Given the description of an element on the screen output the (x, y) to click on. 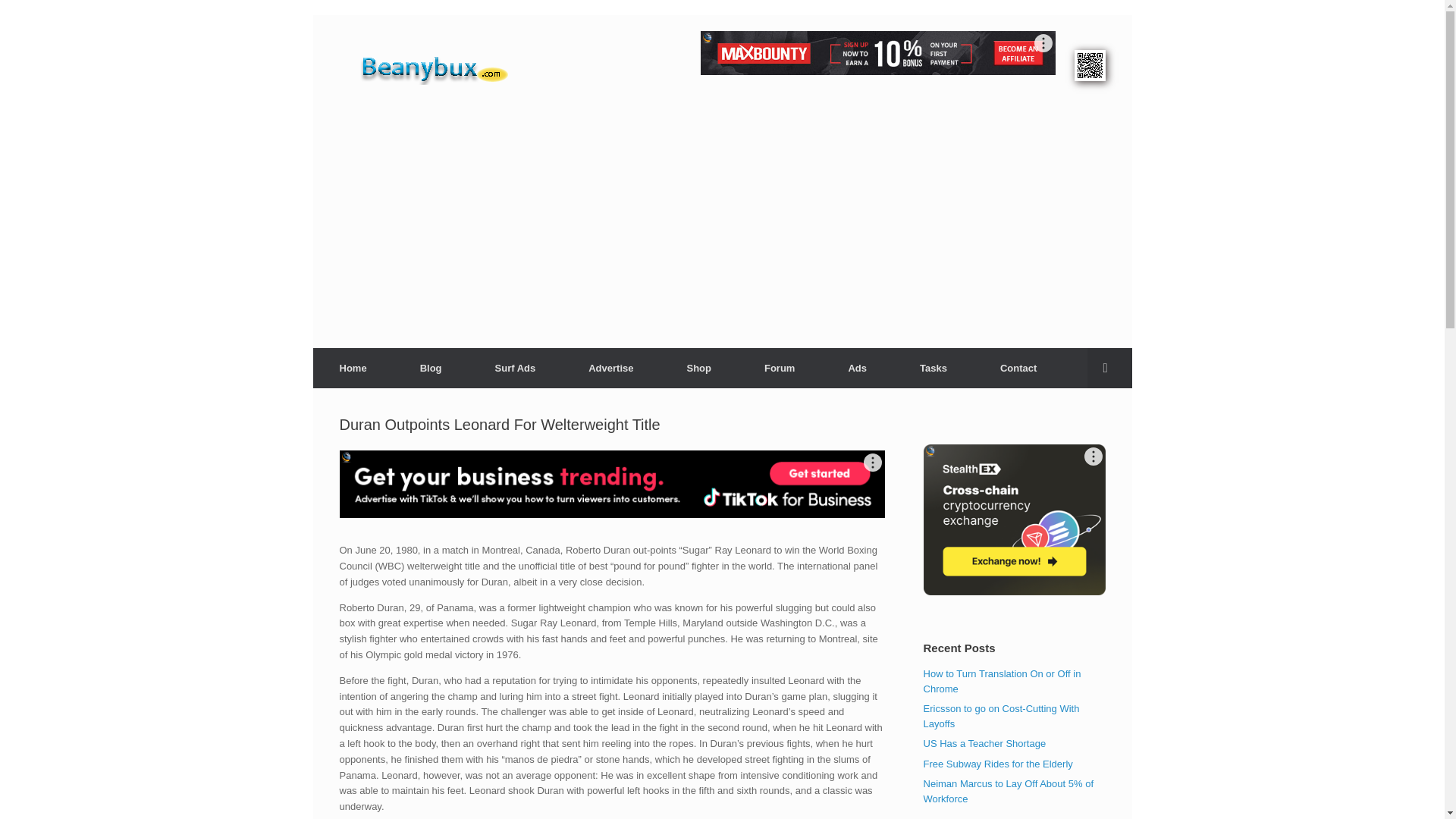
Surf Ads (515, 367)
Tasks (933, 367)
Ads (857, 367)
Shop (698, 367)
Home (353, 367)
Blog (430, 367)
Forum (779, 367)
Beanybux.com (457, 67)
Contact (1018, 367)
Advertise (610, 367)
